Given the description of an element on the screen output the (x, y) to click on. 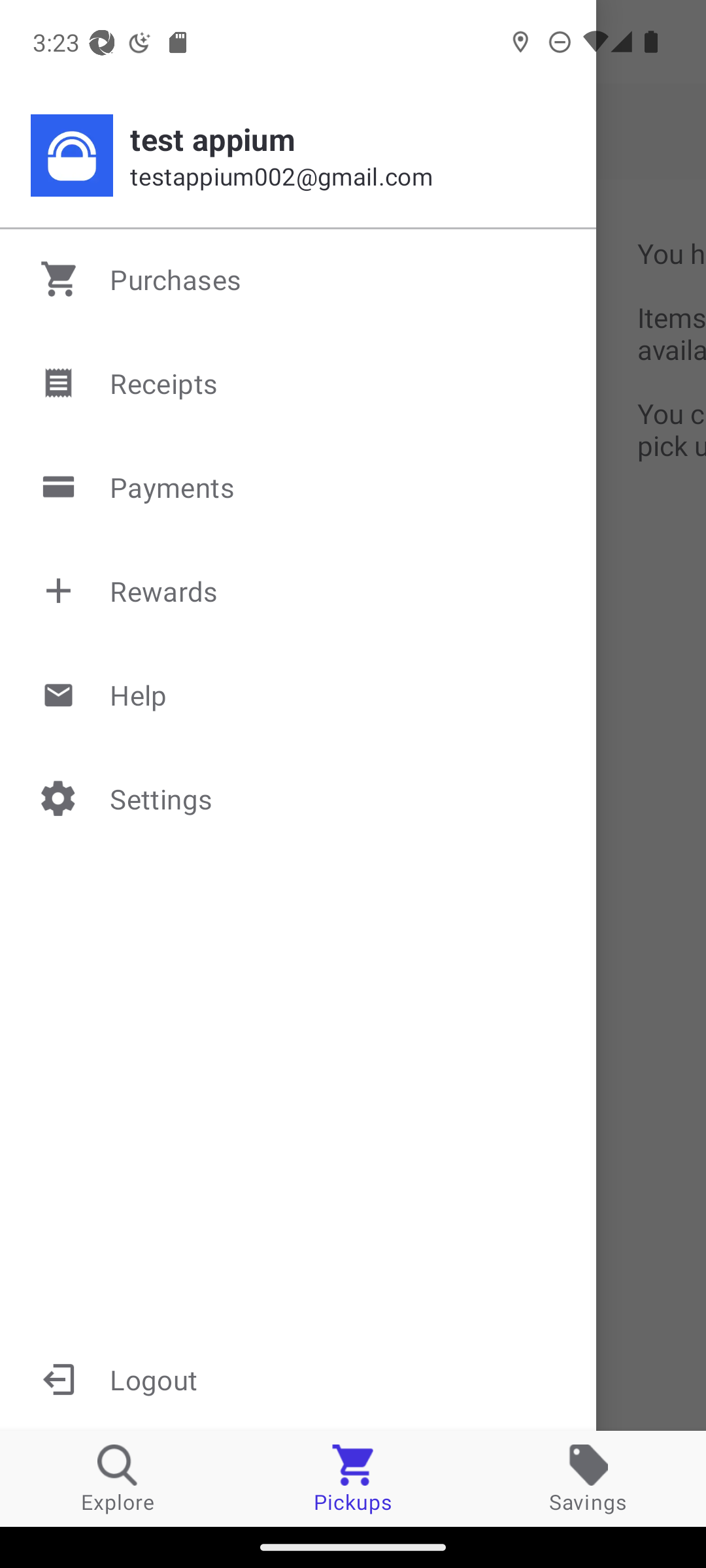
Purchases (299, 278)
Receipts (299, 382)
Payments (299, 487)
Rewards (299, 590)
Help (299, 694)
Settings (299, 797)
Logout (297, 1379)
Explore (117, 1478)
Savings (588, 1478)
